Given the description of an element on the screen output the (x, y) to click on. 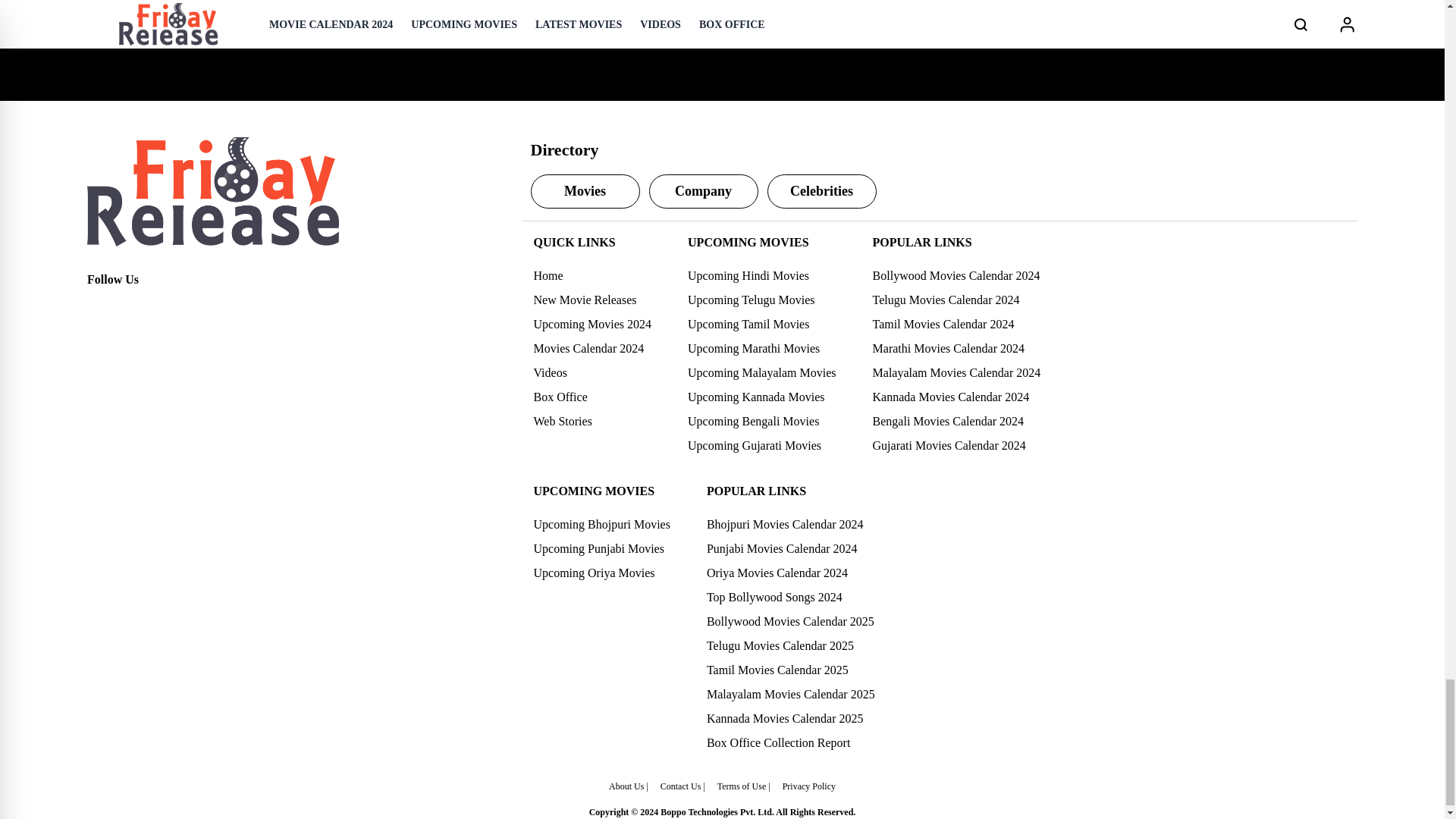
Twitter Page (132, 306)
Instagram Page (165, 306)
Youtube Page (199, 306)
Facebook Page (99, 306)
